Given the description of an element on the screen output the (x, y) to click on. 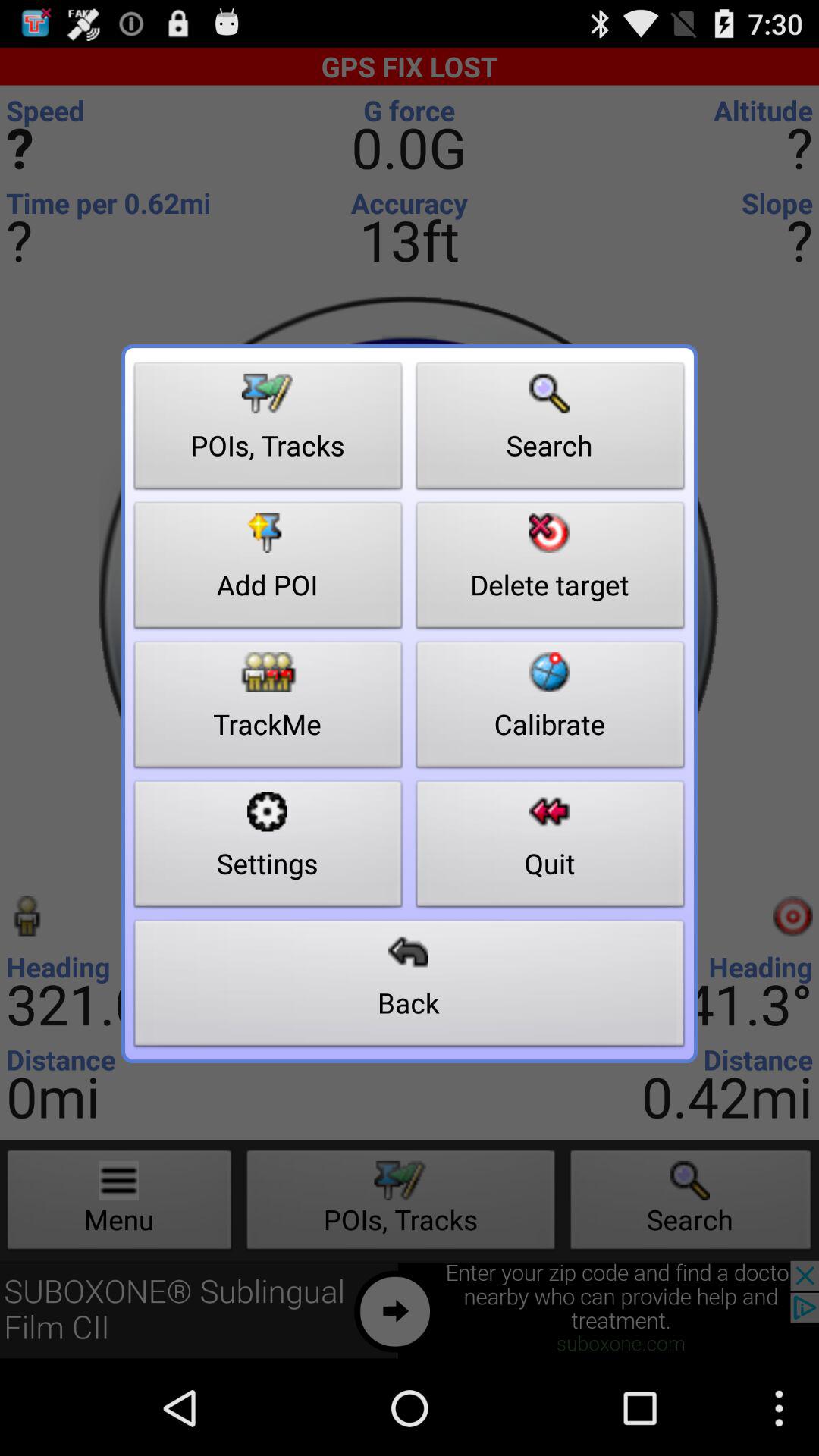
select the button to the left of the calibrate item (268, 847)
